Given the description of an element on the screen output the (x, y) to click on. 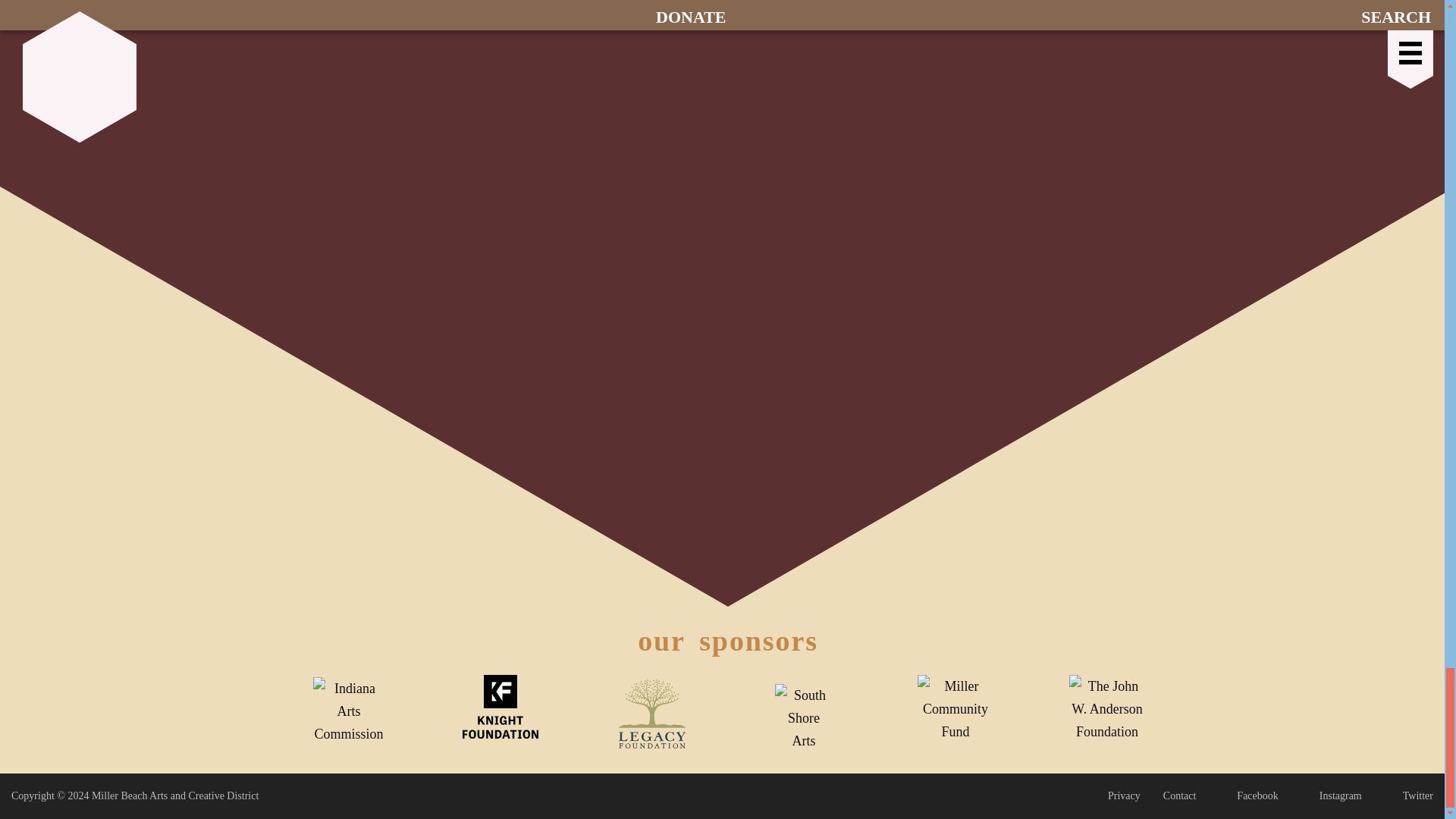
Twitter (1408, 795)
Facebook (1248, 795)
View past events (727, 9)
Privacy (1124, 795)
Contact (1179, 795)
Instagram (1331, 795)
